Given the description of an element on the screen output the (x, y) to click on. 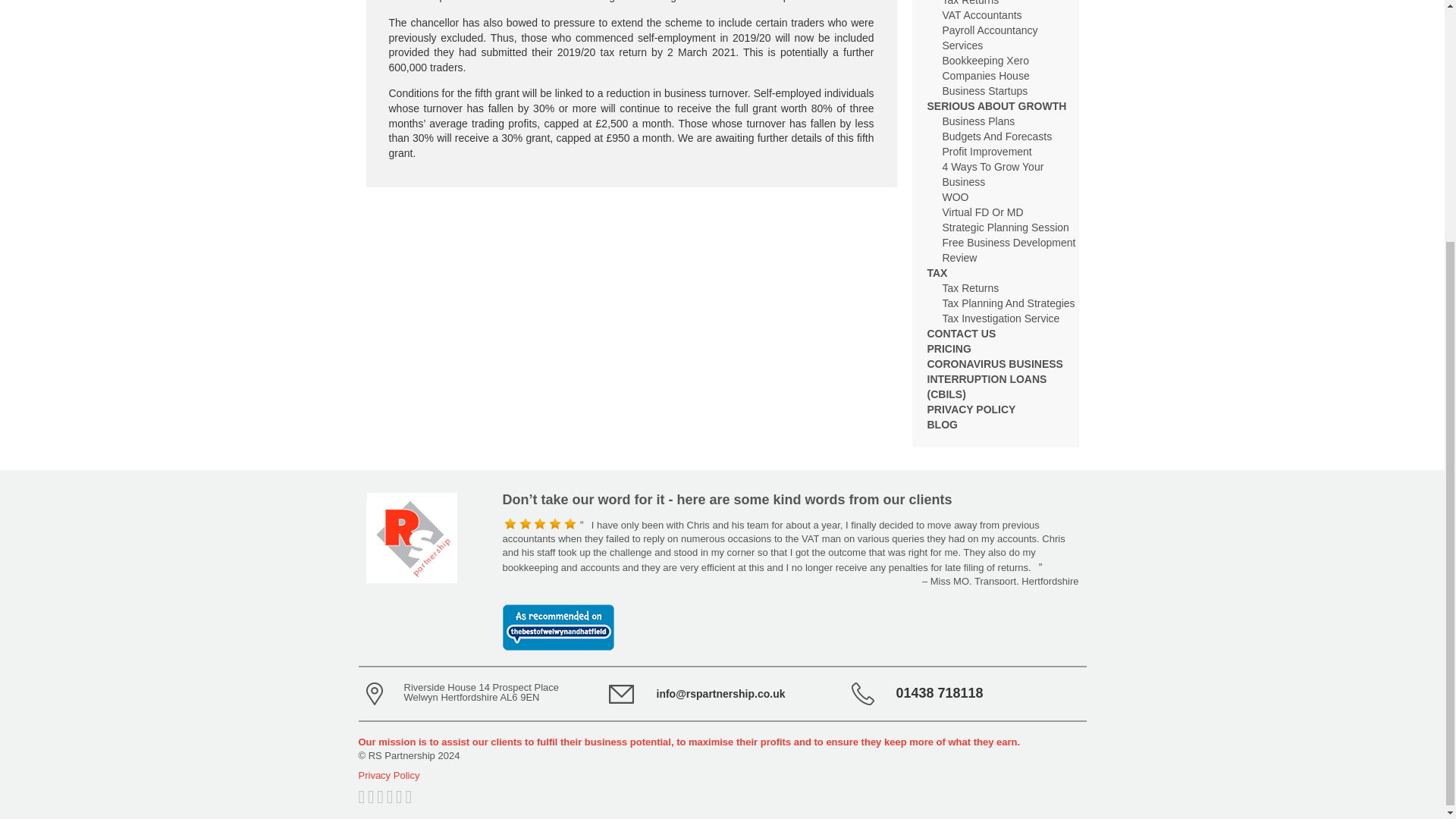
SEISS (590, 1)
